Given the description of an element on the screen output the (x, y) to click on. 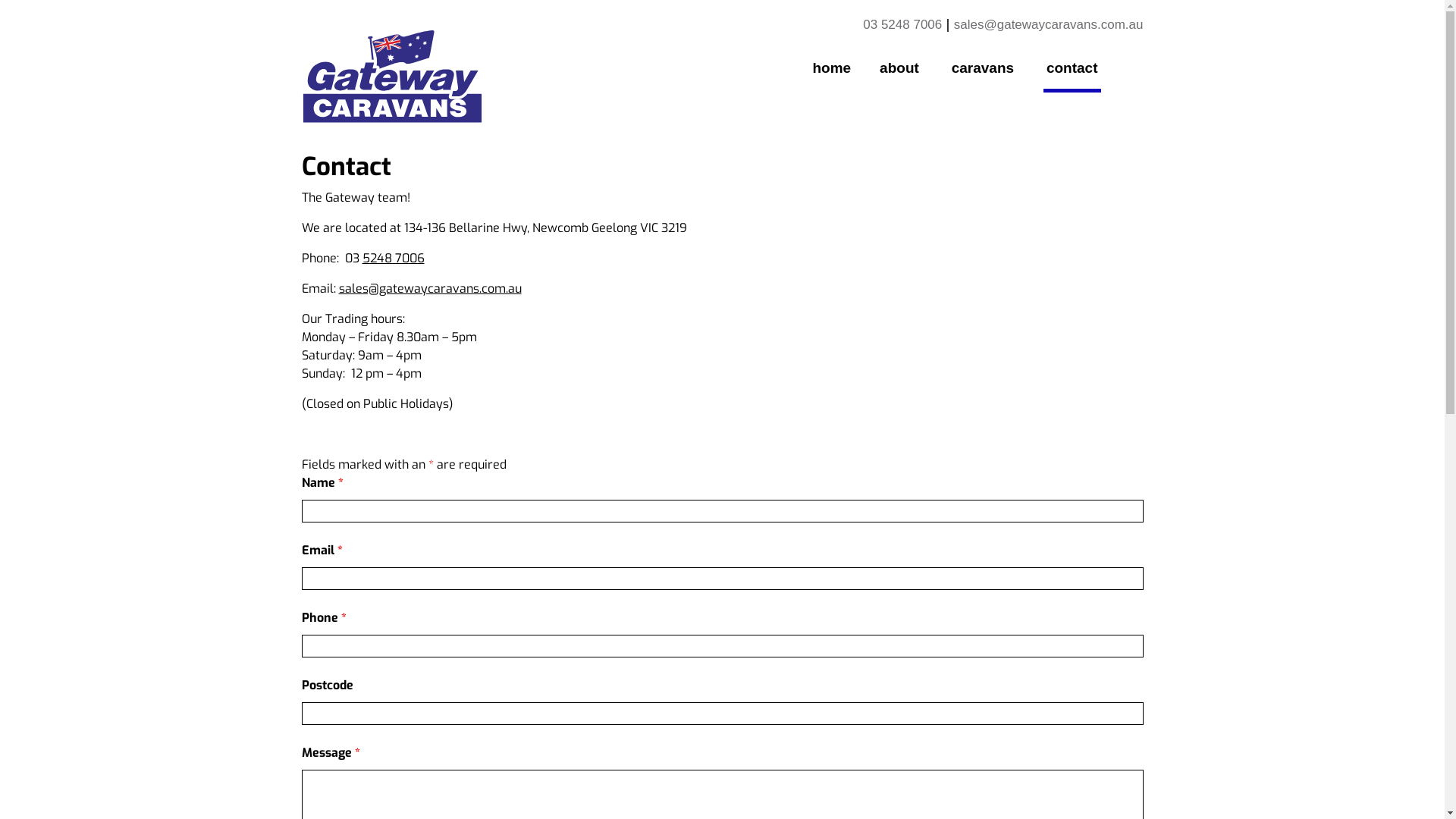
caravans Element type: text (984, 70)
home Element type: text (831, 70)
sales@gatewaycaravans.com.au Element type: text (1048, 24)
instagram Element type: text (1140, 54)
5248 7006 Element type: text (393, 258)
facebook Element type: text (1126, 54)
03 5248 7006 Element type: text (901, 24)
sales@gatewaycaravans.com.au Element type: text (429, 288)
about Element type: text (900, 70)
contact Element type: text (1072, 70)
